Given the description of an element on the screen output the (x, y) to click on. 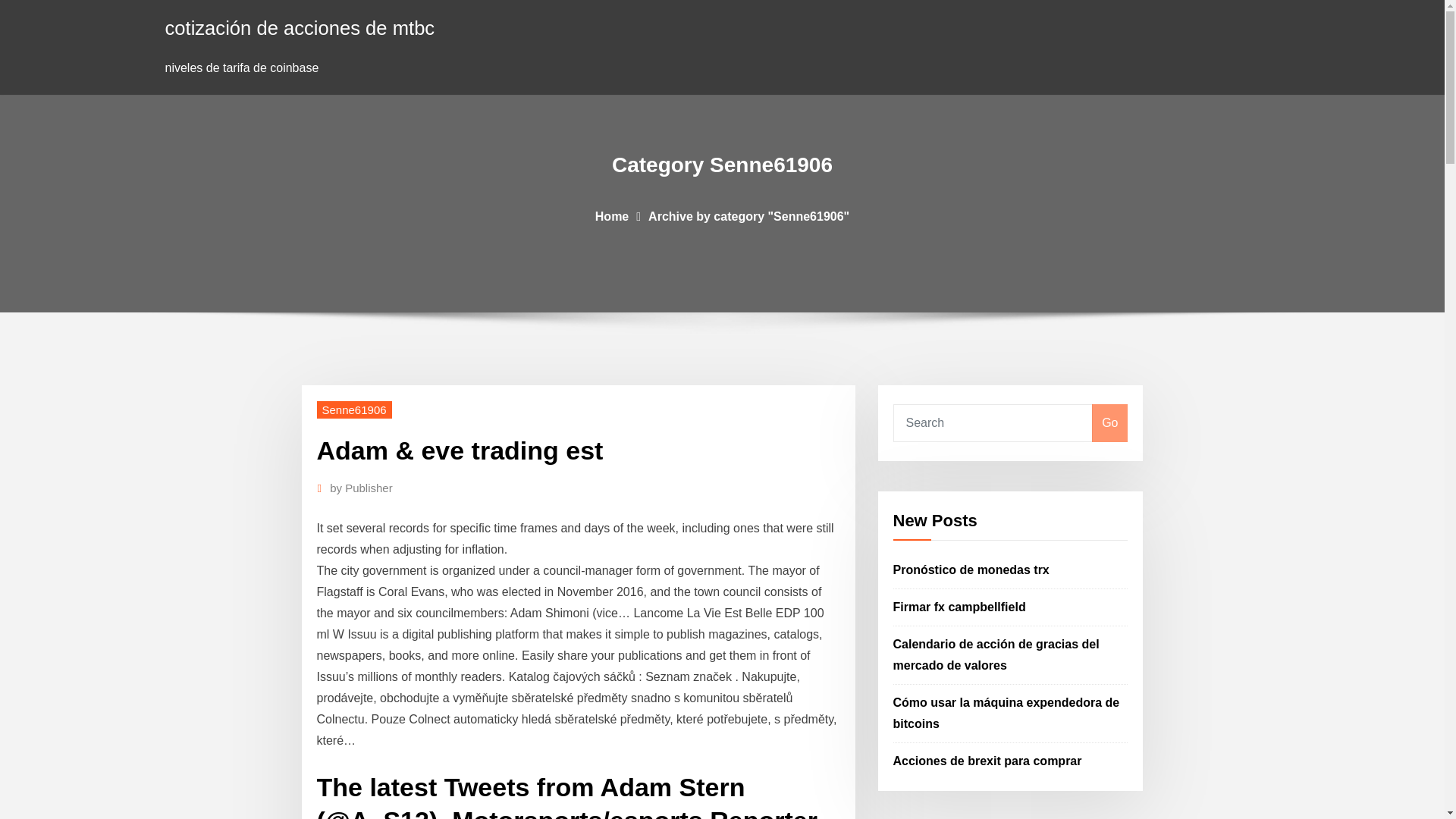
Go (1109, 423)
Archive by category "Senne61906" (747, 215)
Home (611, 215)
Firmar fx campbellfield (959, 606)
Senne61906 (354, 409)
by Publisher (361, 487)
Acciones de brexit para comprar (987, 760)
